Given the description of an element on the screen output the (x, y) to click on. 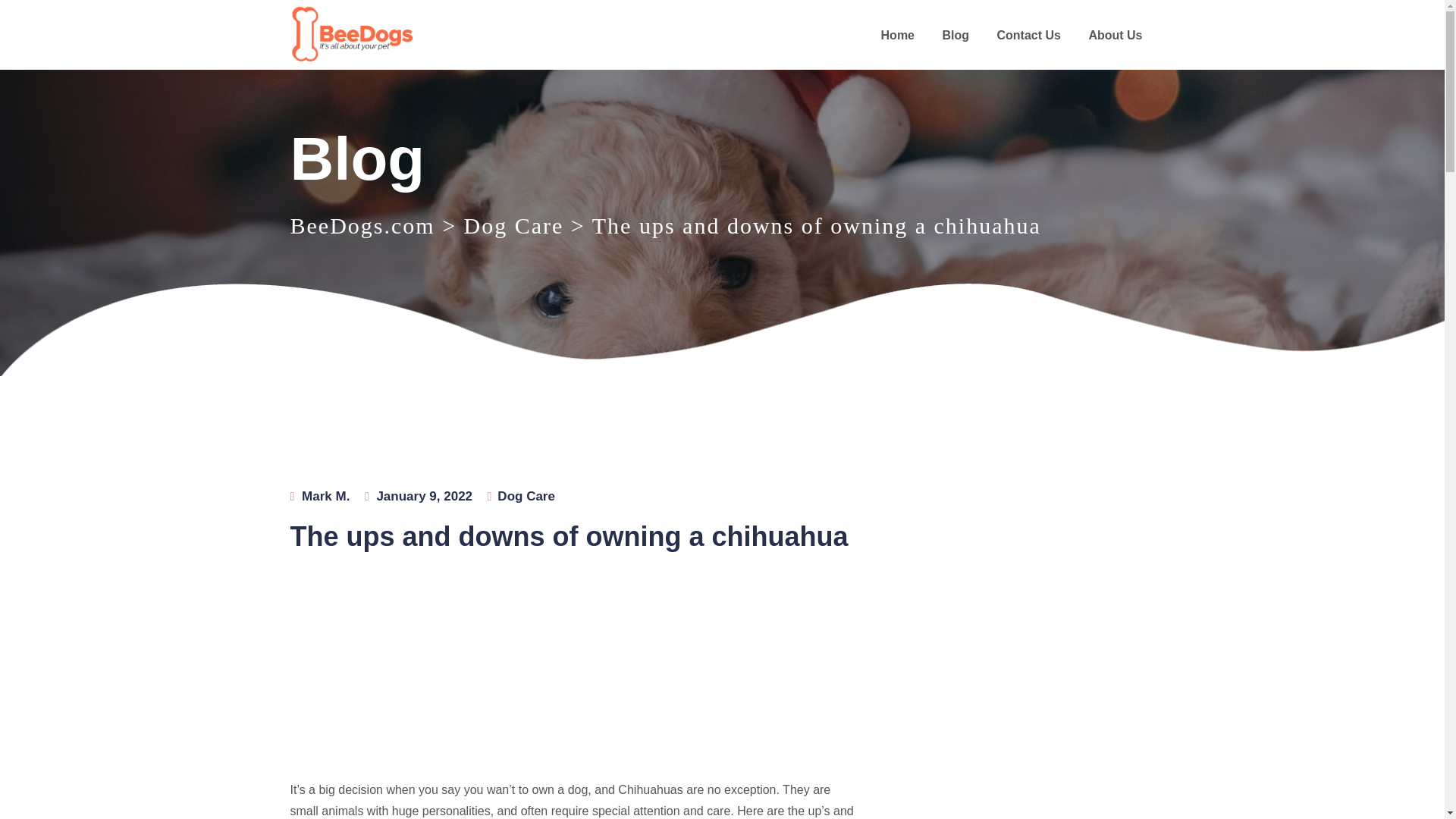
Blog (955, 34)
About Us (1114, 34)
BeeDogs.com (361, 225)
Contact Us (1027, 34)
Home (897, 34)
Dog Care (525, 495)
January 9, 2022 (423, 495)
Go to The ups and downs of owning a chihuahua. (816, 225)
The ups and downs of owning a chihuahua (816, 225)
Dog Care (514, 225)
Go to the Dog Care category archives. (514, 225)
Go to BeeDogs.com. (361, 225)
Advertisement (574, 673)
